Given the description of an element on the screen output the (x, y) to click on. 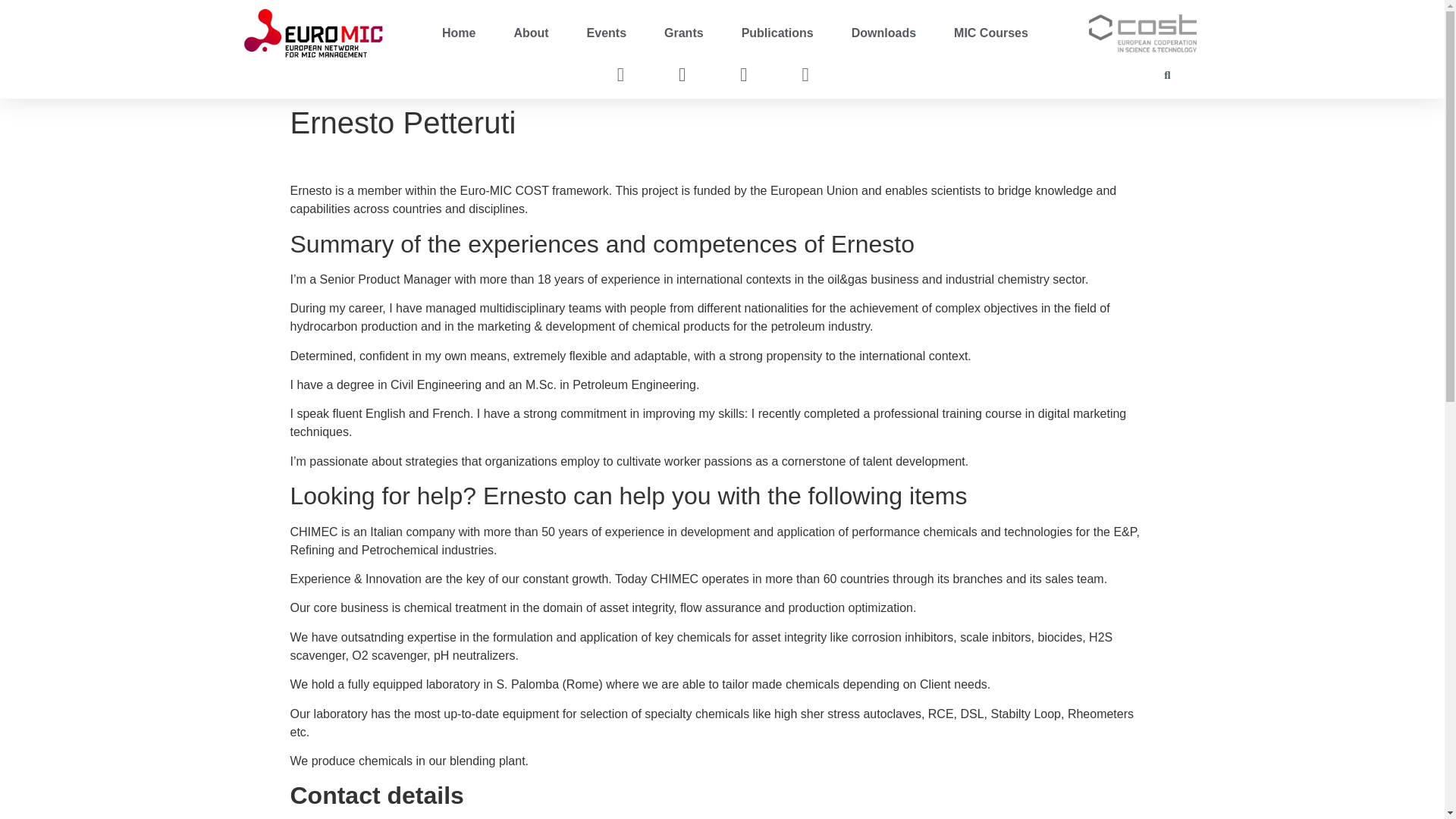
Grants (683, 32)
About (530, 32)
Home (459, 32)
Publications (777, 32)
Events (606, 32)
Downloads (883, 32)
MIC Courses (990, 32)
